Given the description of an element on the screen output the (x, y) to click on. 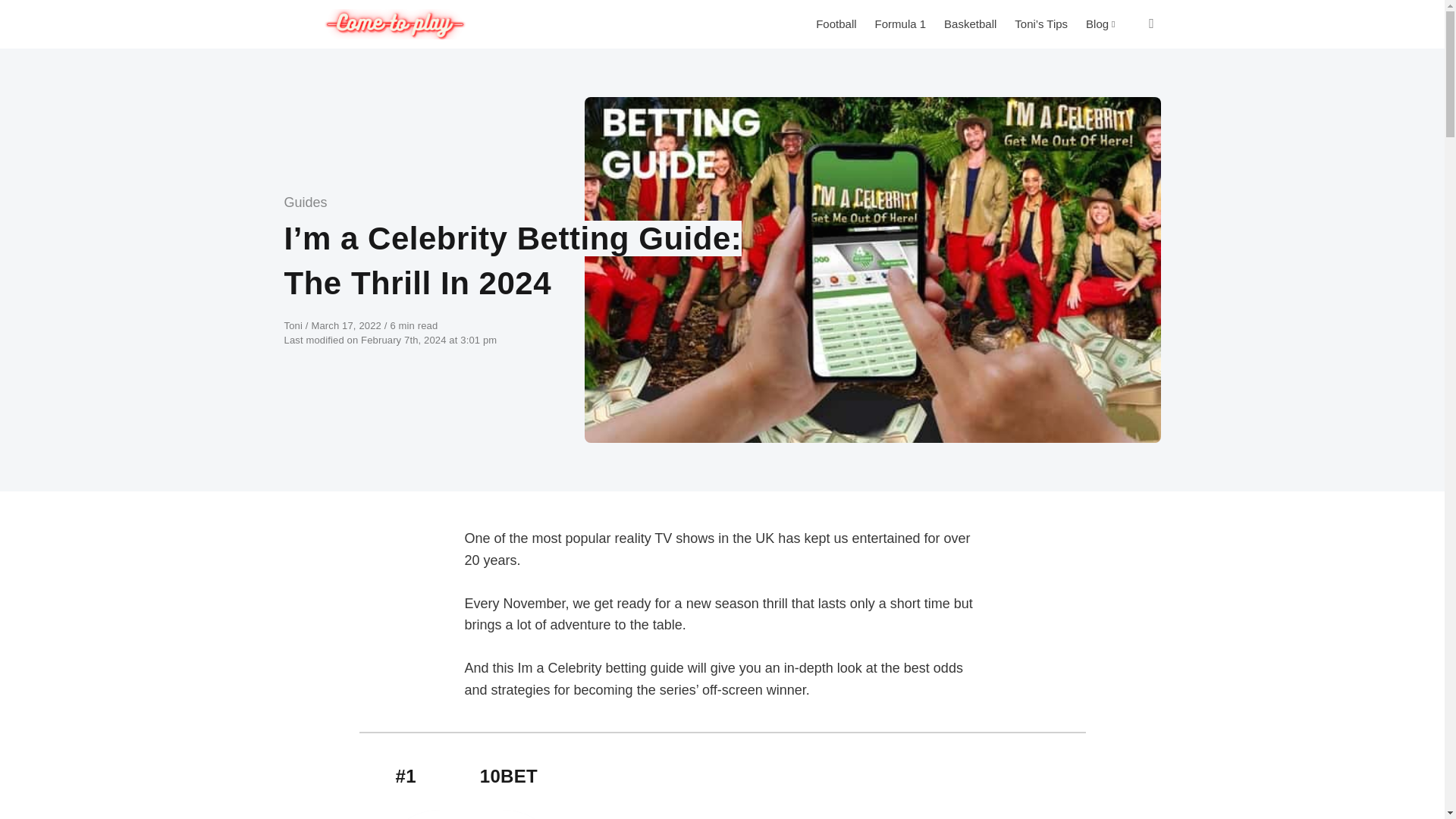
Guides (304, 201)
Toni (293, 325)
March 17, 2022 (347, 325)
10BET (508, 775)
Formula 1 (901, 24)
March 17, 2022 (347, 325)
Blog (1100, 24)
Football (835, 24)
Basketball (970, 24)
